Given the description of an element on the screen output the (x, y) to click on. 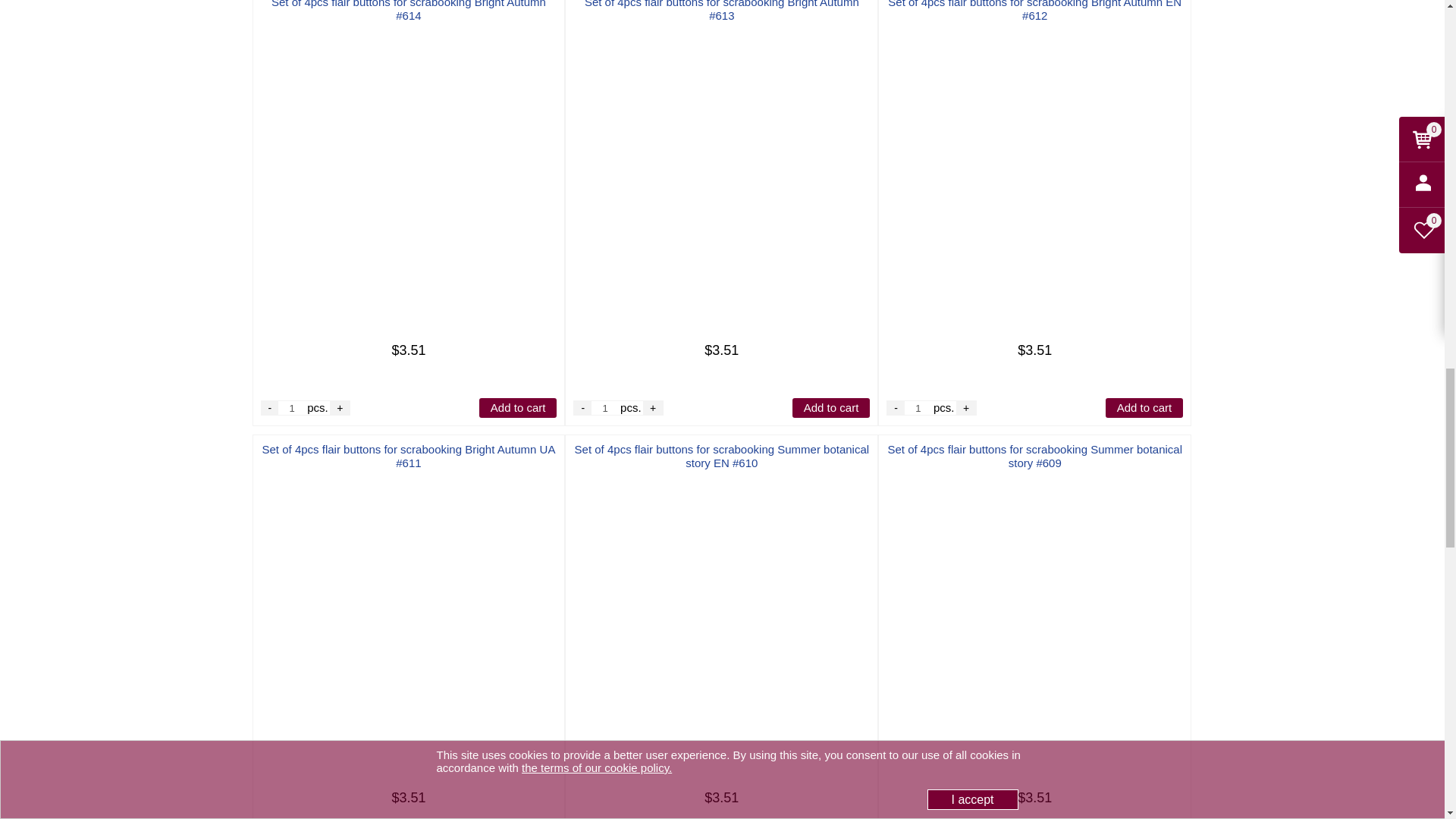
1 (291, 408)
1 (917, 408)
1 (604, 408)
